Given the description of an element on the screen output the (x, y) to click on. 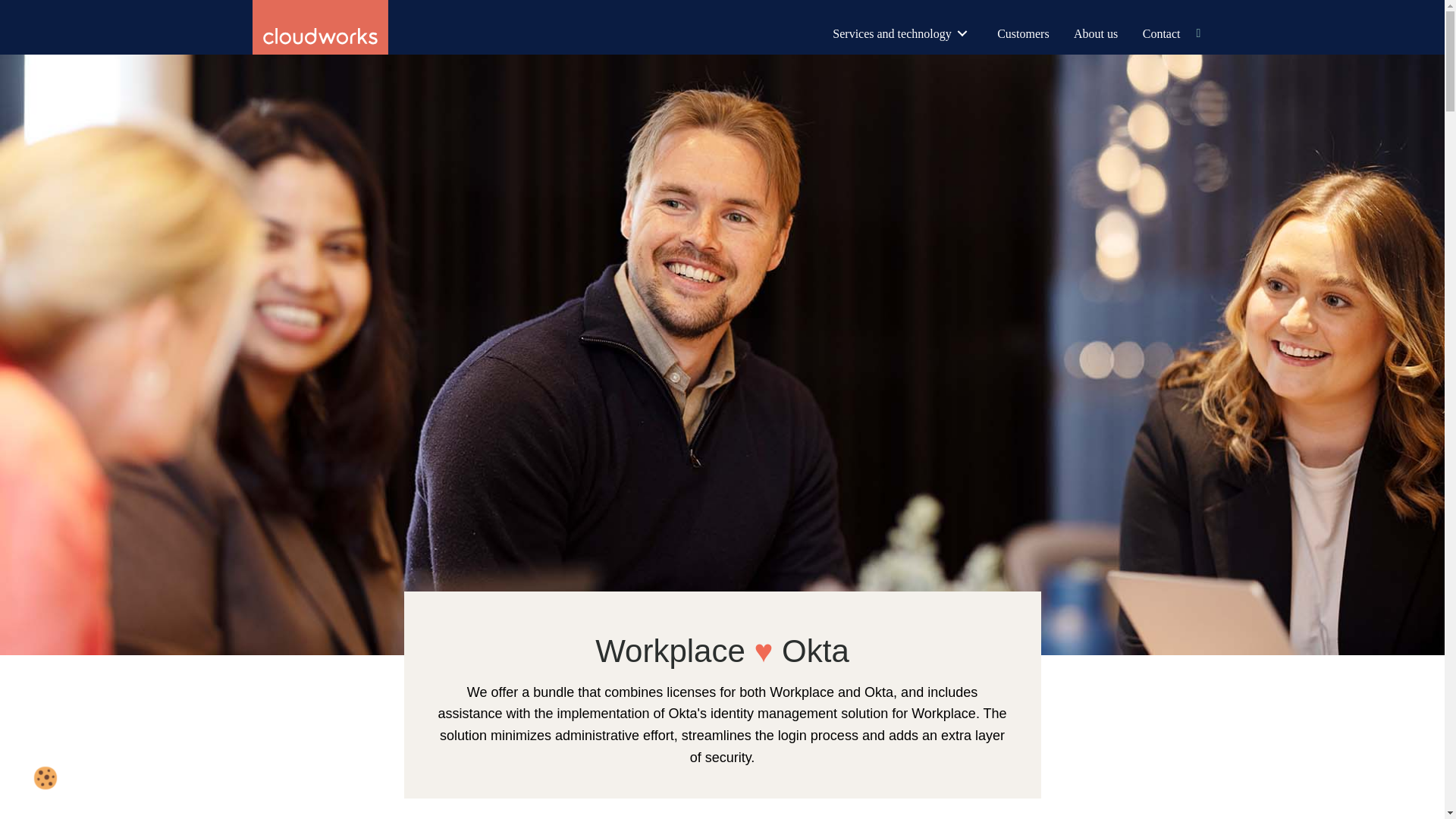
Customers (1023, 33)
Services and technology (902, 33)
About us (1095, 33)
cloudworks-logo (319, 27)
Contact (1161, 33)
